Given the description of an element on the screen output the (x, y) to click on. 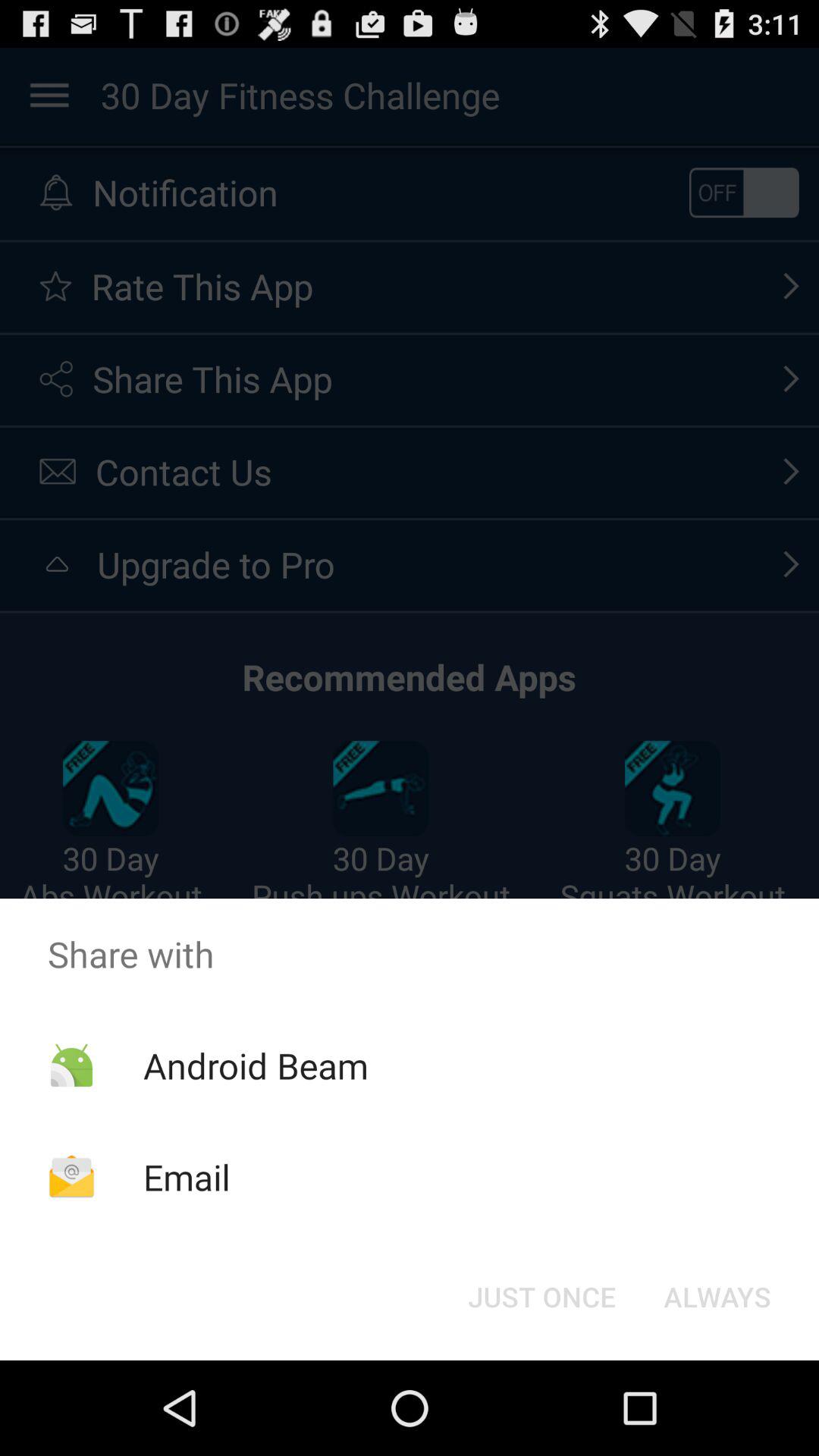
swipe to the android beam icon (255, 1065)
